Given the description of an element on the screen output the (x, y) to click on. 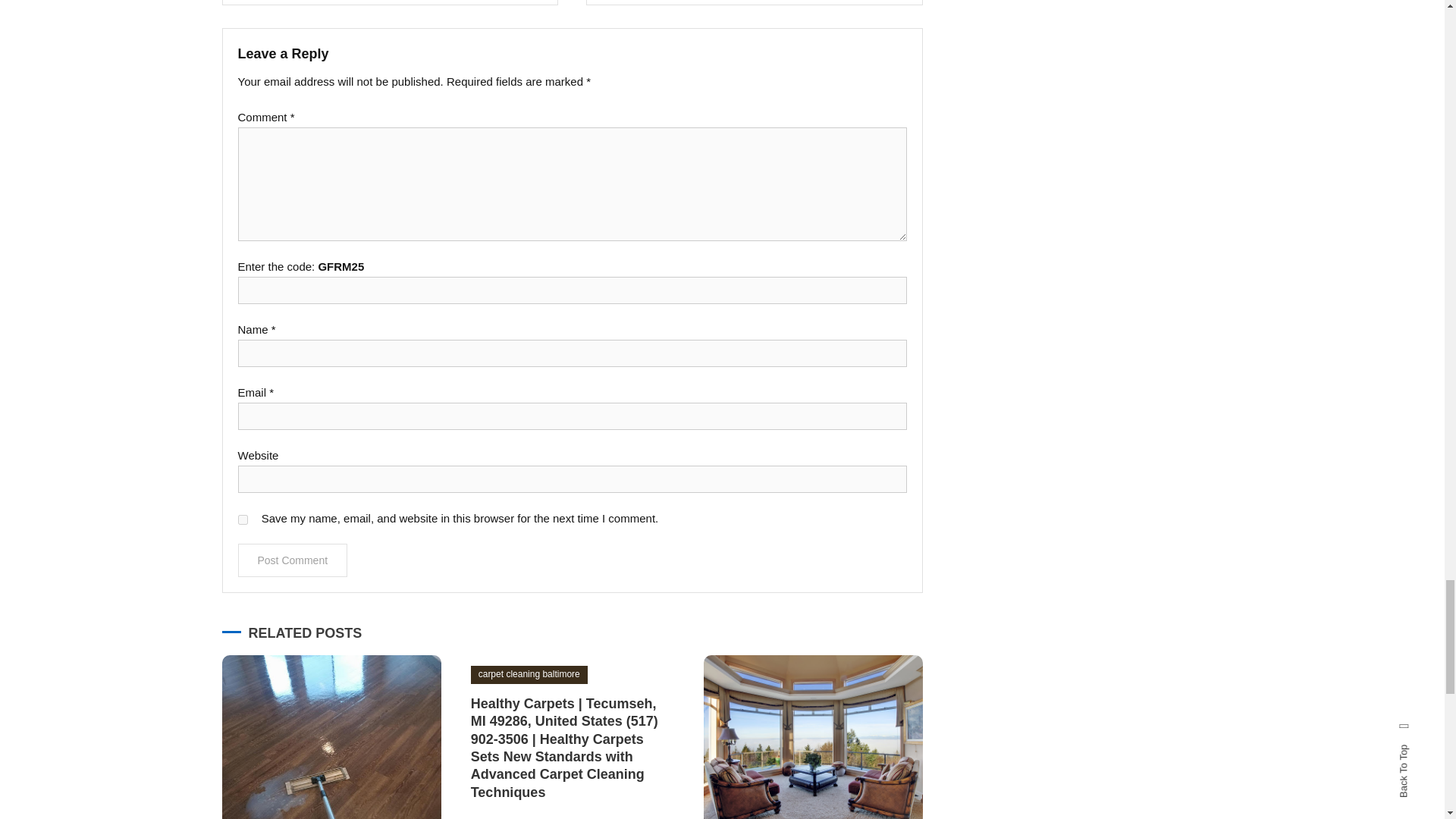
yes (242, 519)
Post Comment (292, 560)
